Given the description of an element on the screen output the (x, y) to click on. 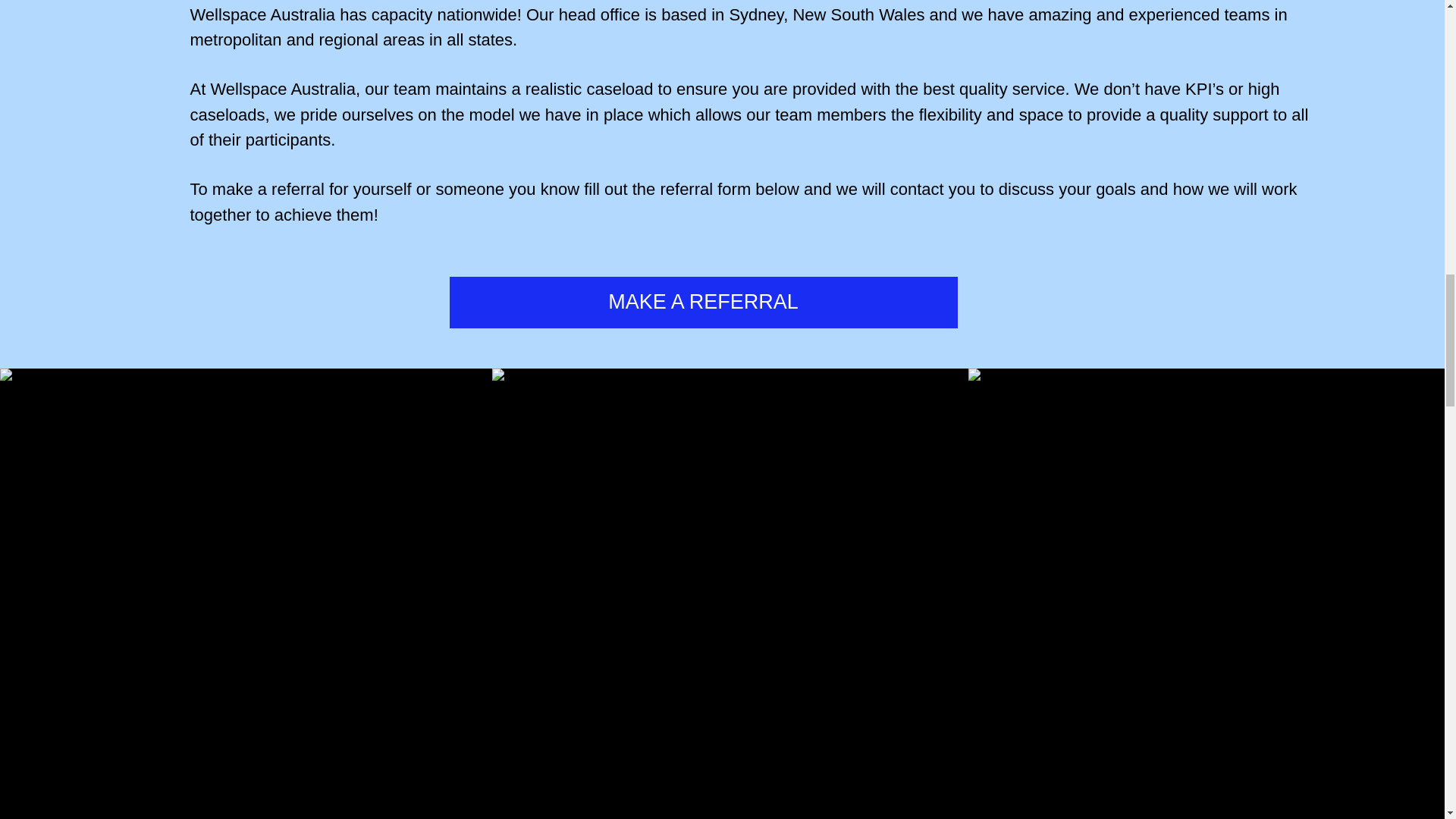
MAKE A REFERRAL (702, 301)
